Given the description of an element on the screen output the (x, y) to click on. 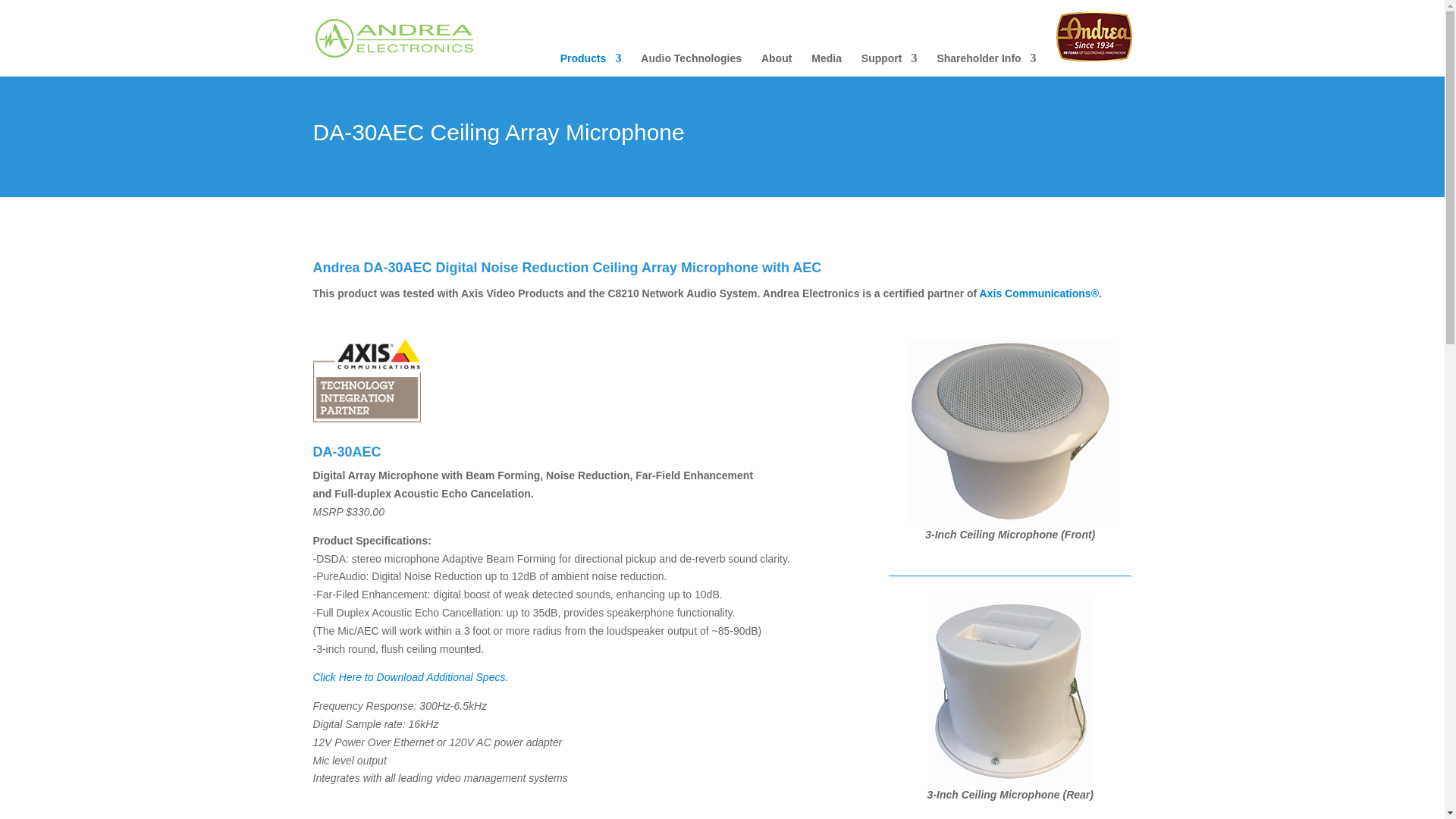
3-Inch-Ceiling-Mic-Front (1010, 432)
3-Inch-Ceiling-Mic-Rear (1010, 692)
Media (825, 64)
Audio Technologies (690, 64)
Axis-Logo-300x230 (366, 380)
About (776, 64)
Support (889, 64)
Products (590, 64)
Shareholder Info (985, 64)
